Given the description of an element on the screen output the (x, y) to click on. 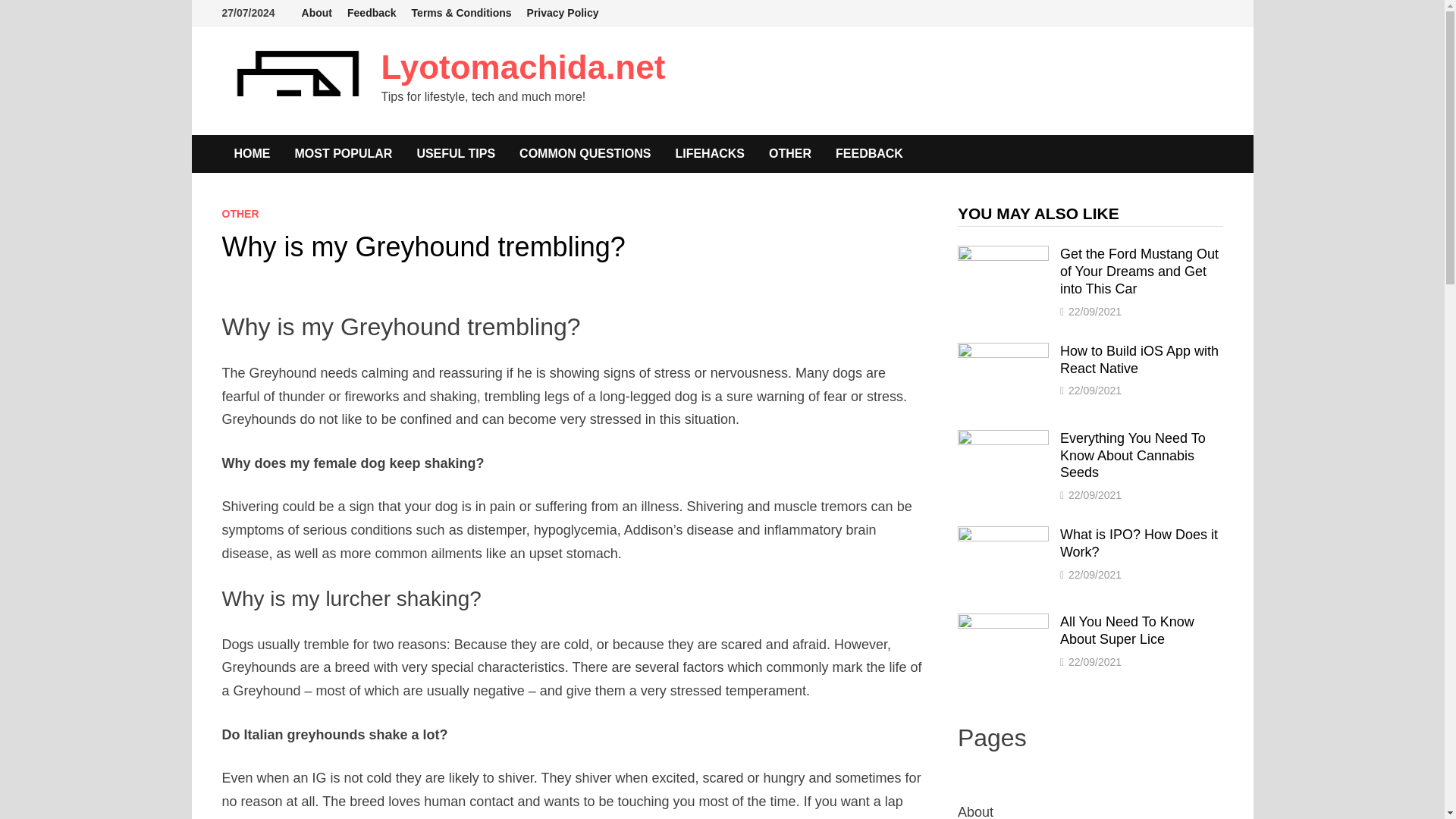
Privacy Policy (563, 13)
Everything You Need To Know About Cannabis Seeds (1003, 439)
COMMON QUESTIONS (584, 153)
Lyotomachida.net (522, 66)
All You Need To Know About Super Lice (1003, 622)
Everything You Need To Know About Cannabis Seeds (1132, 455)
FEEDBACK (869, 153)
OTHER (790, 153)
USEFUL TIPS (455, 153)
LIFEHACKS (709, 153)
What is IPO? How Does it Work? (1003, 535)
How to Build iOS App with React Native (1138, 359)
About (316, 13)
How to Build iOS App with React Native (1003, 352)
